Given the description of an element on the screen output the (x, y) to click on. 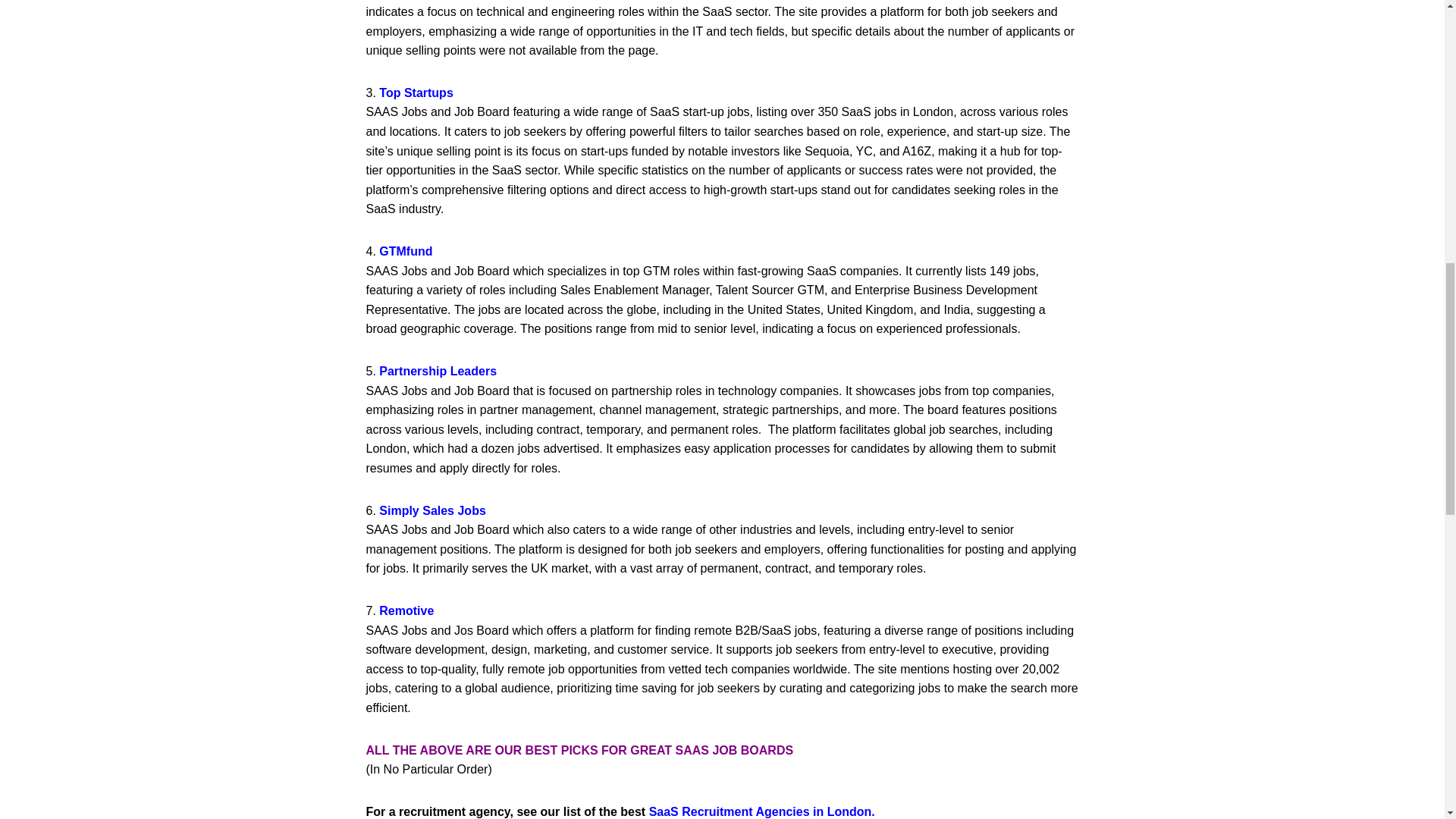
Remotive (405, 610)
SaaS Recruitment Agencies in London. (762, 811)
Partnership Leaders (437, 370)
Top Startups (415, 92)
GTMfund (405, 250)
Simply Sales Jobs (432, 510)
